Given the description of an element on the screen output the (x, y) to click on. 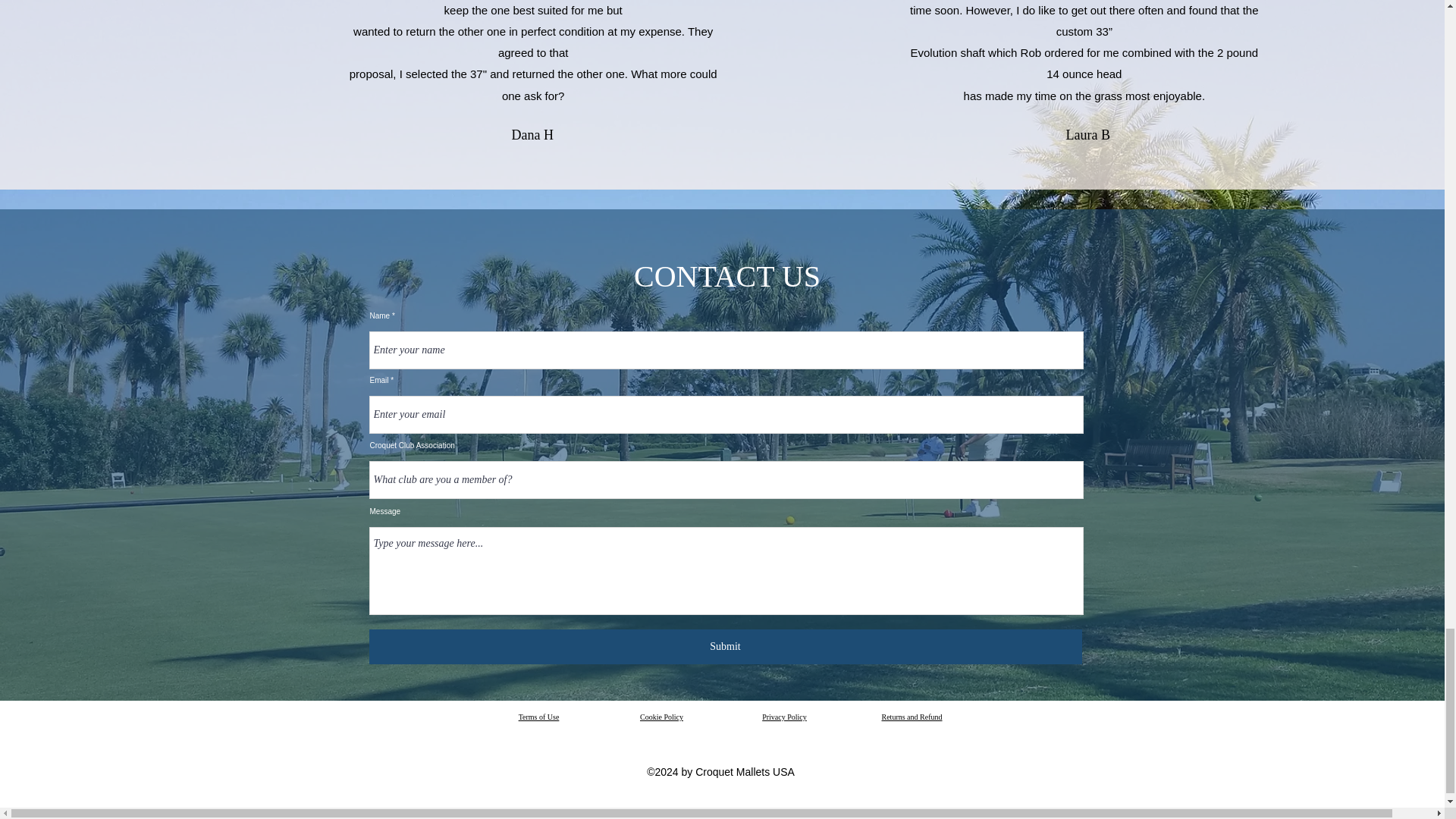
Submit (724, 646)
